Given the description of an element on the screen output the (x, y) to click on. 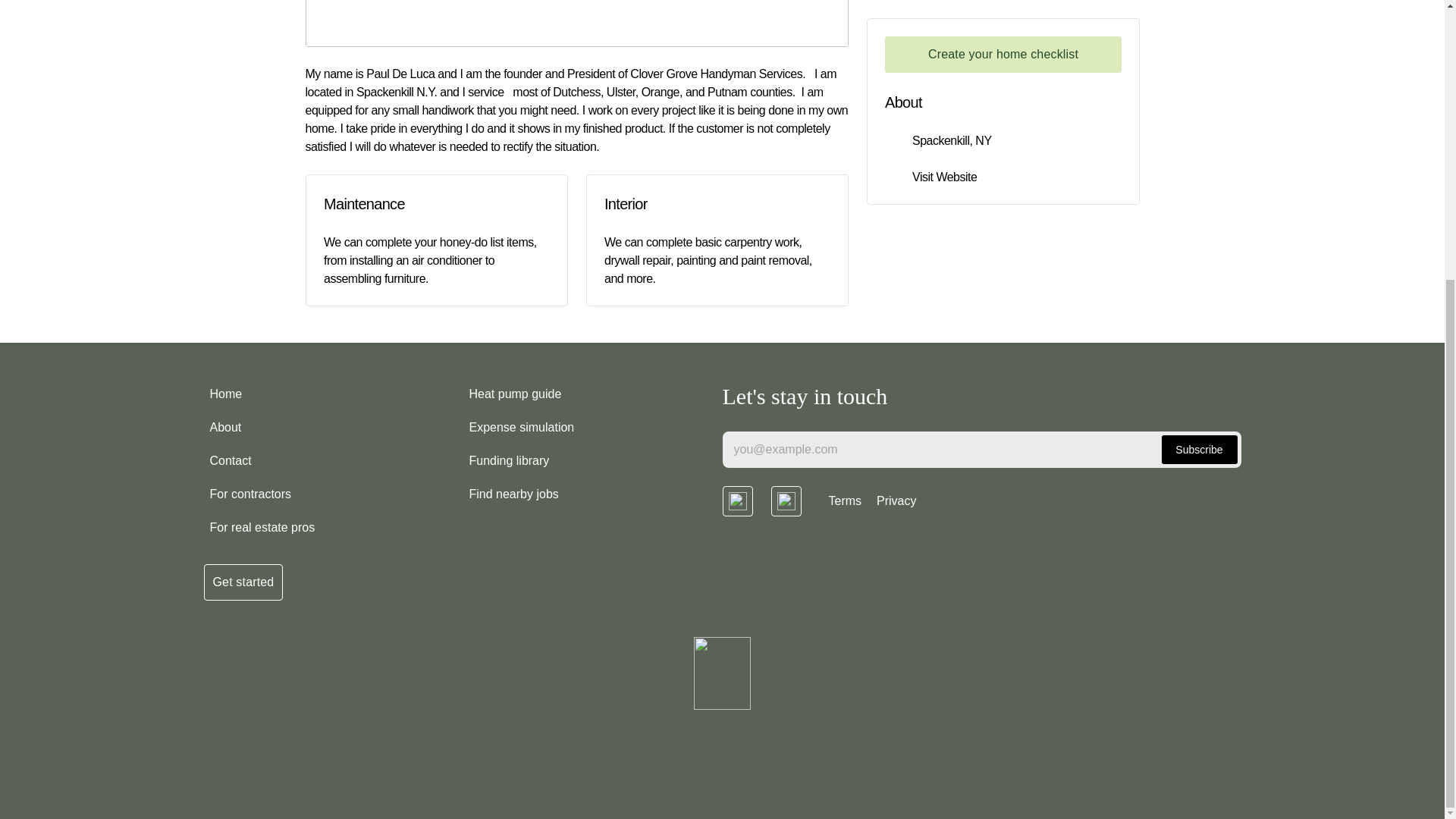
For contractors (250, 494)
Subscribe (1199, 449)
Get started (242, 582)
For real estate pros (261, 527)
Subscribe (1199, 449)
Funding library (508, 460)
Expense simulation (521, 427)
Terms (844, 501)
Home (225, 394)
Find nearby jobs (513, 494)
Contact (230, 460)
About (225, 427)
Privacy (895, 501)
Heat pump guide (515, 394)
